Given the description of an element on the screen output the (x, y) to click on. 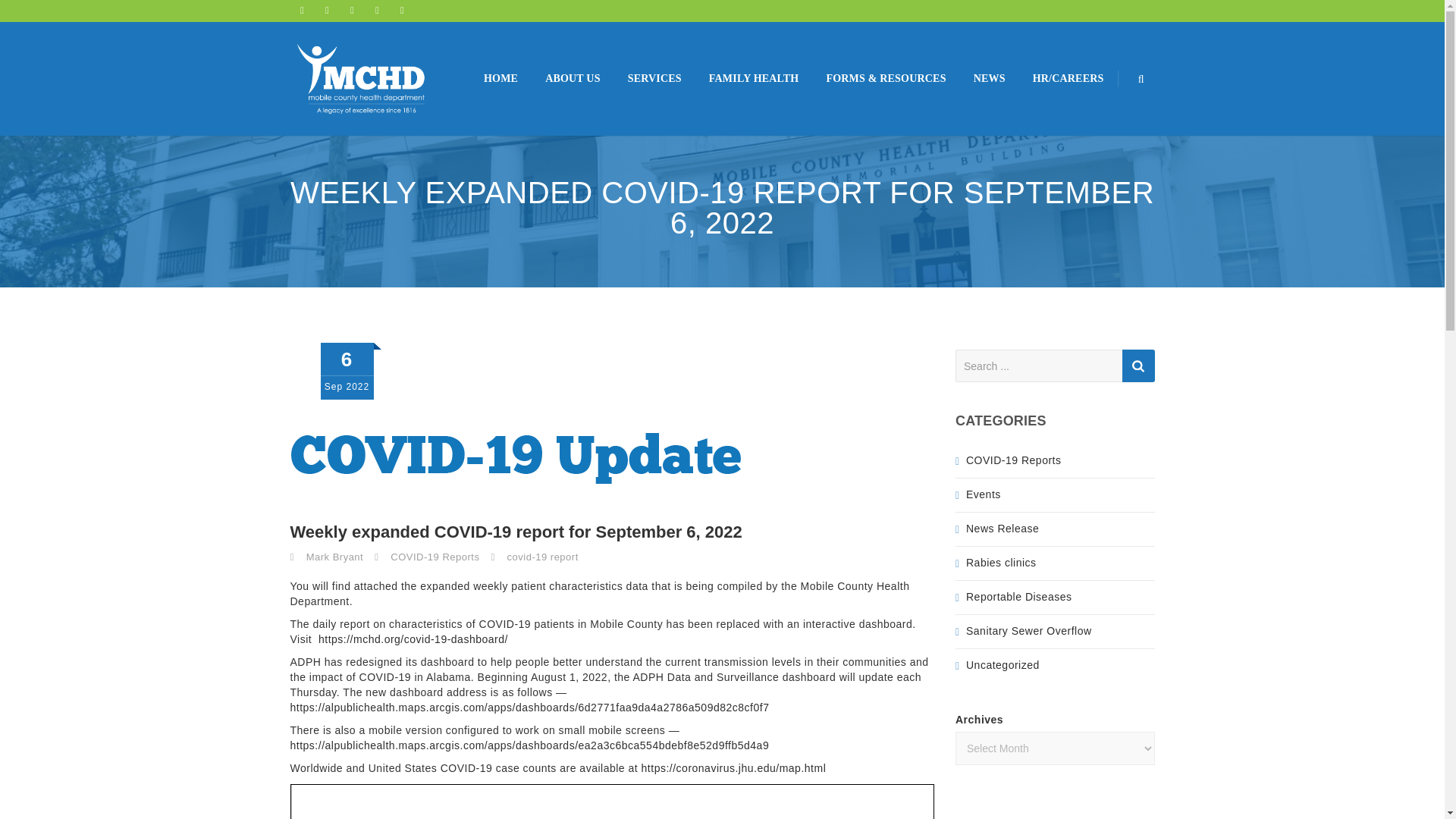
Search (1138, 365)
covid-19 report (542, 556)
Search (1138, 365)
Mark Bryant (334, 556)
Mobile County Health Department (359, 78)
View all posts by Mark Bryant (334, 556)
COVID-19 Reports (434, 556)
Search for: (1054, 365)
